Given the description of an element on the screen output the (x, y) to click on. 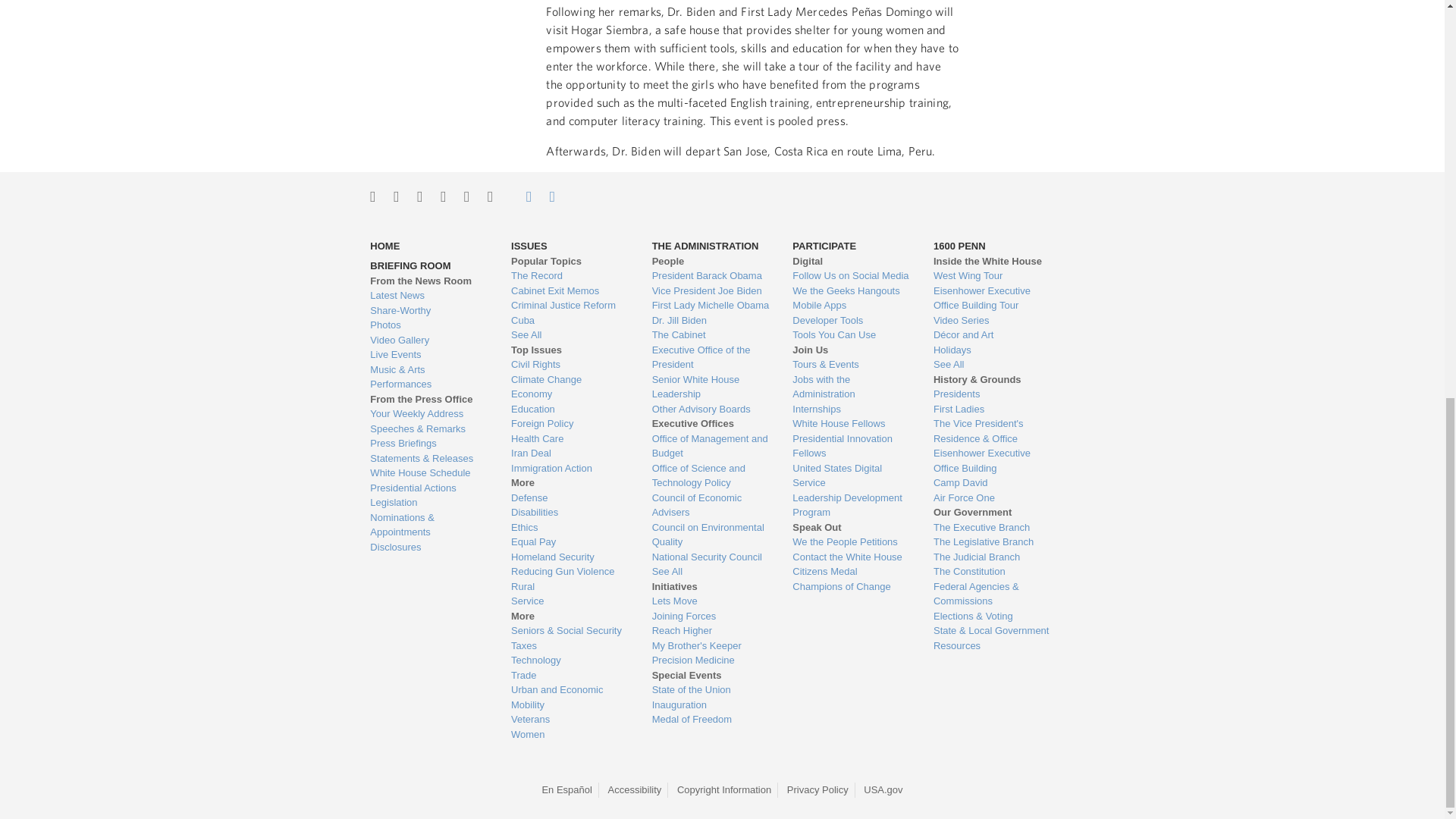
Contact the Whitehouse. (521, 196)
Read the latest blog posts from 1600 Pennsylvania Ave (428, 295)
